Given the description of an element on the screen output the (x, y) to click on. 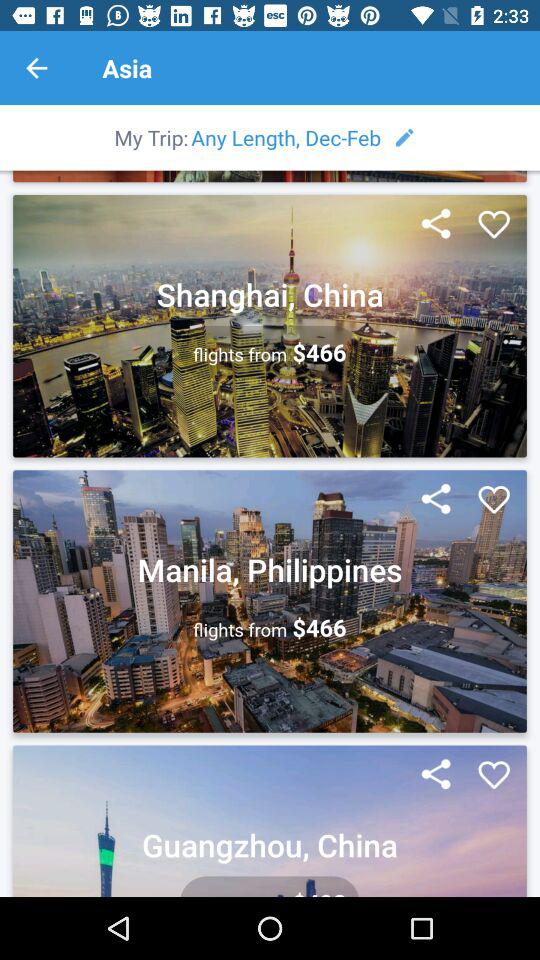
add to favorites (494, 500)
